Given the description of an element on the screen output the (x, y) to click on. 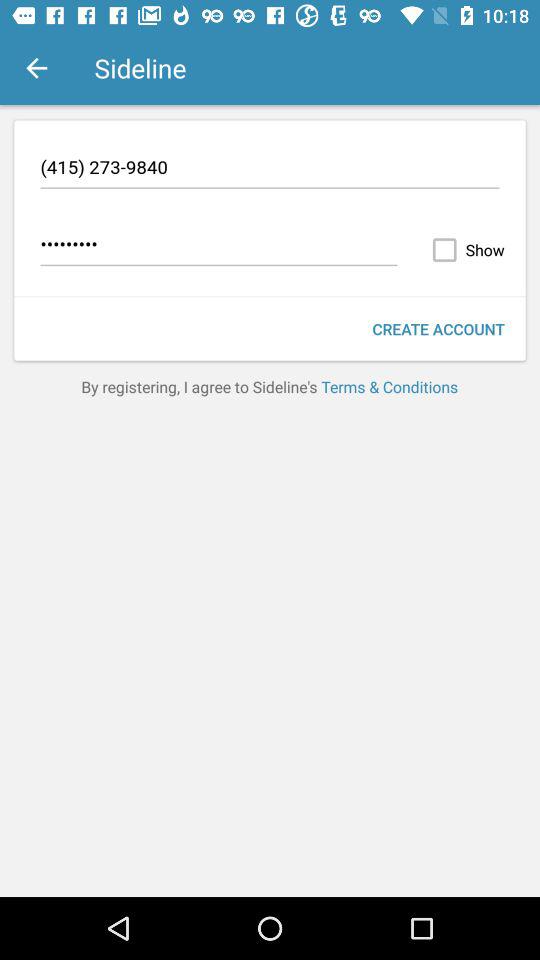
swipe to by registering i (269, 386)
